Given the description of an element on the screen output the (x, y) to click on. 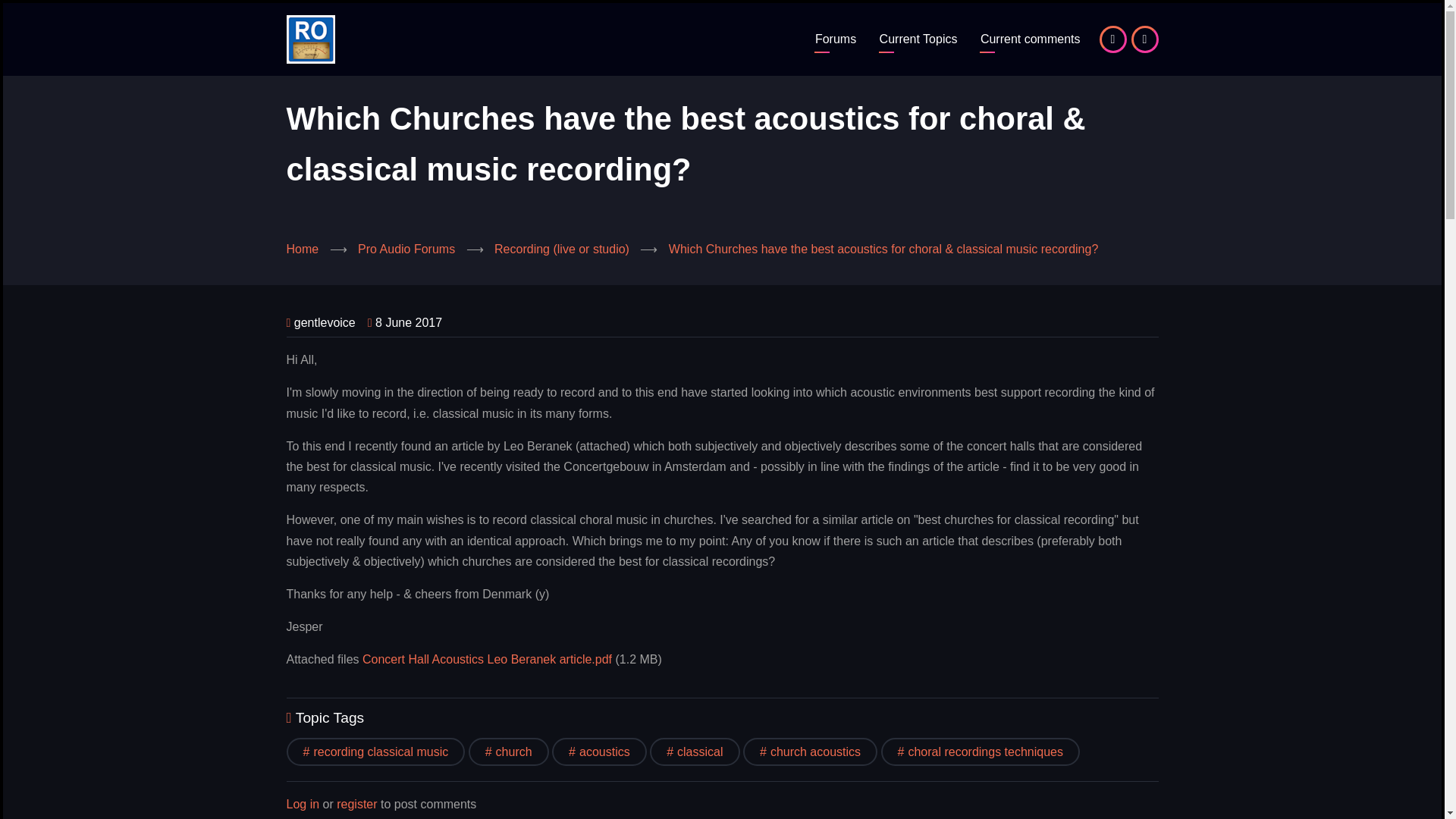
Current posts teaser (1030, 39)
Pro Audio Forums (835, 39)
church acoustics (809, 751)
Current Topics (918, 39)
Forums (835, 39)
classical (694, 751)
Log in (303, 803)
acoustics (598, 751)
Pro Audio Forums (406, 248)
Current comments (1030, 39)
